Given the description of an element on the screen output the (x, y) to click on. 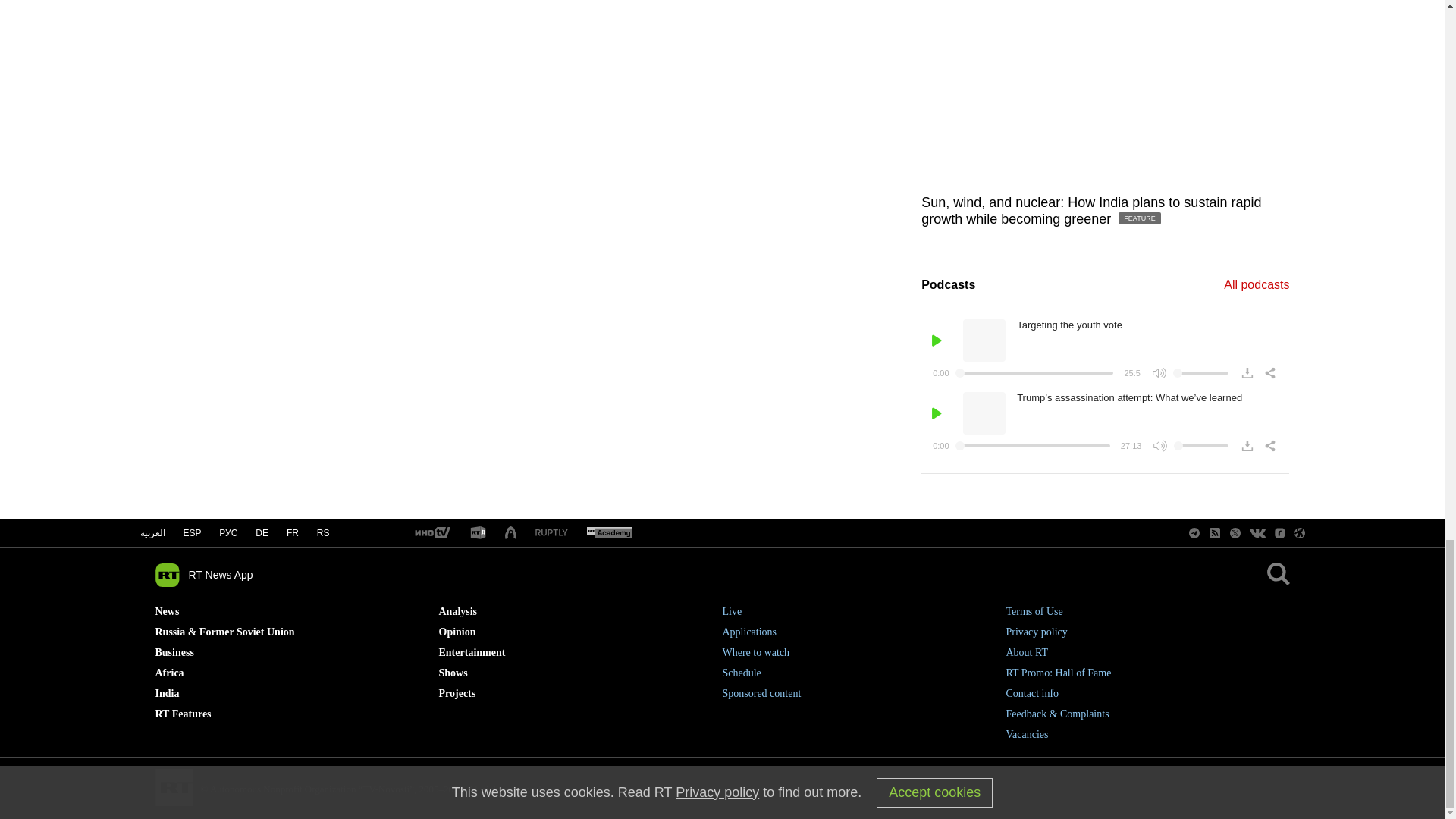
RT  (608, 533)
RT  (478, 533)
RT  (551, 533)
RT  (431, 533)
